Given the description of an element on the screen output the (x, y) to click on. 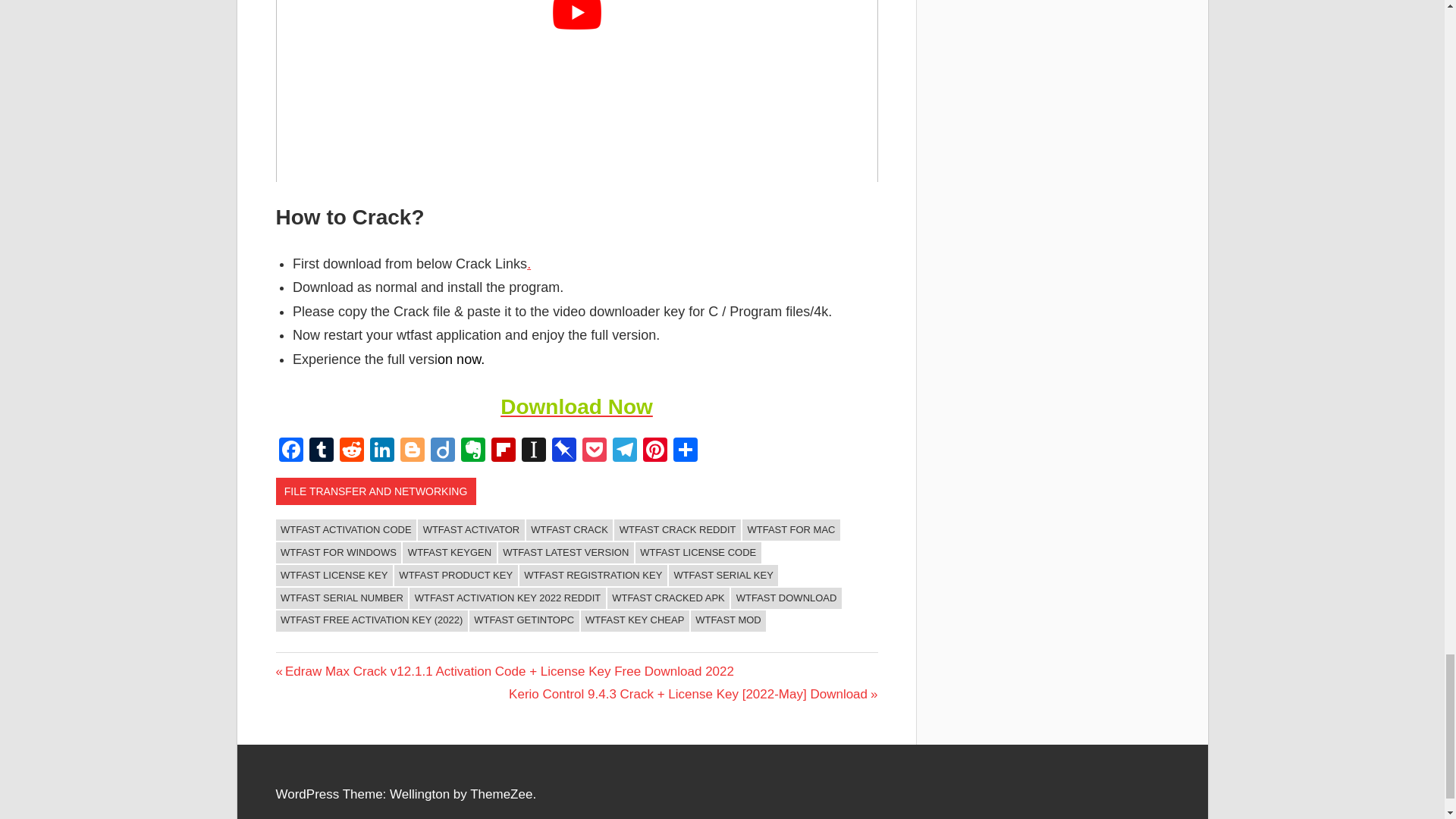
Blogger (412, 451)
. (529, 263)
Flipboard (502, 451)
Pinboard (563, 451)
LinkedIn (381, 451)
Reddit (351, 451)
Instapaper (533, 451)
Facebook (290, 451)
Blogger (412, 451)
Diigo (443, 451)
Diigo (443, 451)
Pinboard (563, 451)
Reddit (351, 451)
Flipboard (502, 451)
Download Now (576, 406)
